Given the description of an element on the screen output the (x, y) to click on. 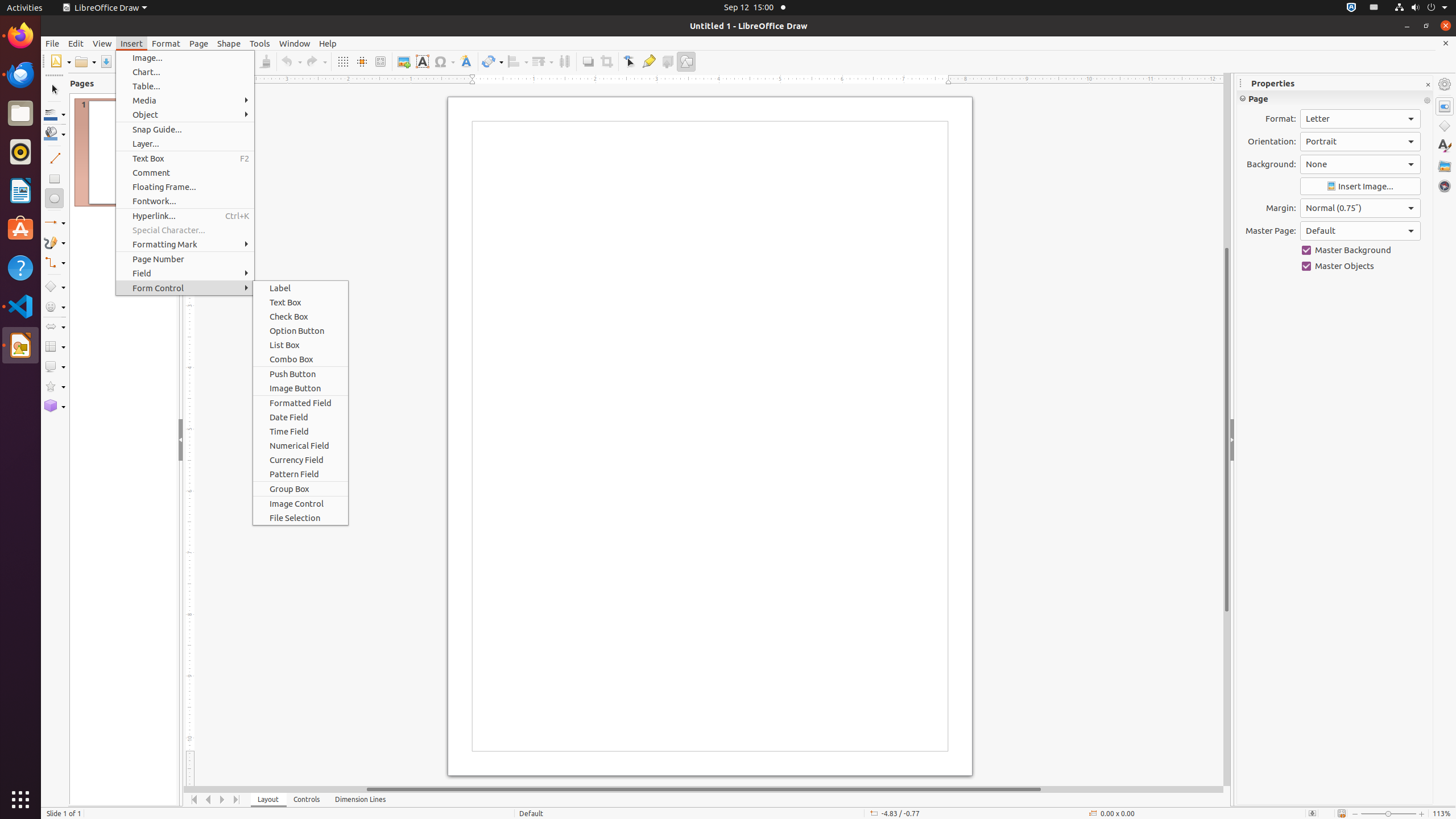
Vertical scroll bar Element type: scroll-bar (1226, 429)
Floating Frame... Element type: menu-item (185, 186)
Crop Element type: push-button (606, 61)
Fontwork... Element type: menu-item (185, 200)
New Element type: push-button (59, 61)
